Given the description of an element on the screen output the (x, y) to click on. 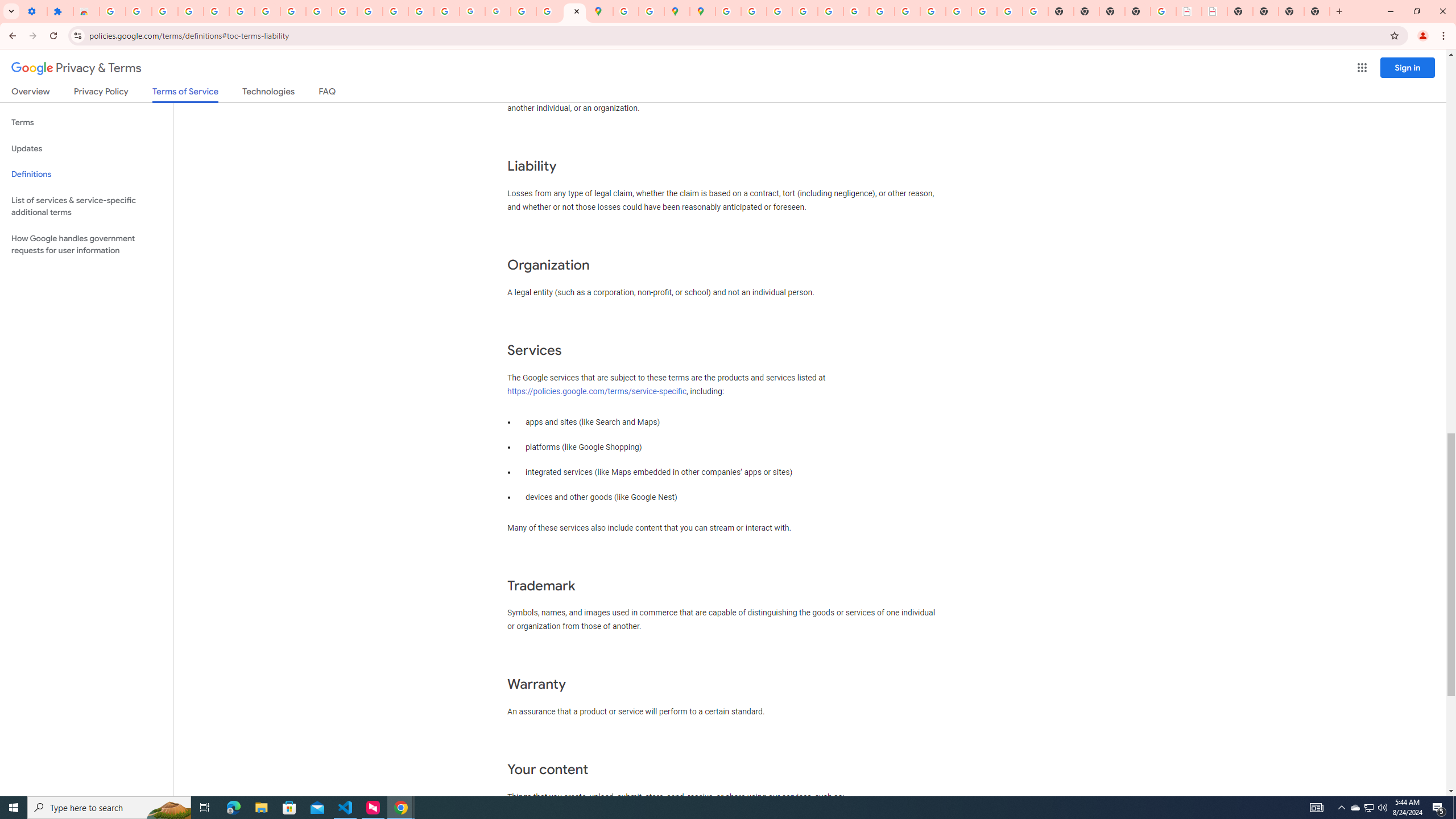
Forward (32, 35)
YouTube (318, 11)
Minimize (1390, 11)
Terms of Service (184, 94)
Google Maps (600, 11)
Sign in - Google Accounts (242, 11)
Overview (30, 93)
Safety in Our Products - Google Safety Center (651, 11)
